Given the description of an element on the screen output the (x, y) to click on. 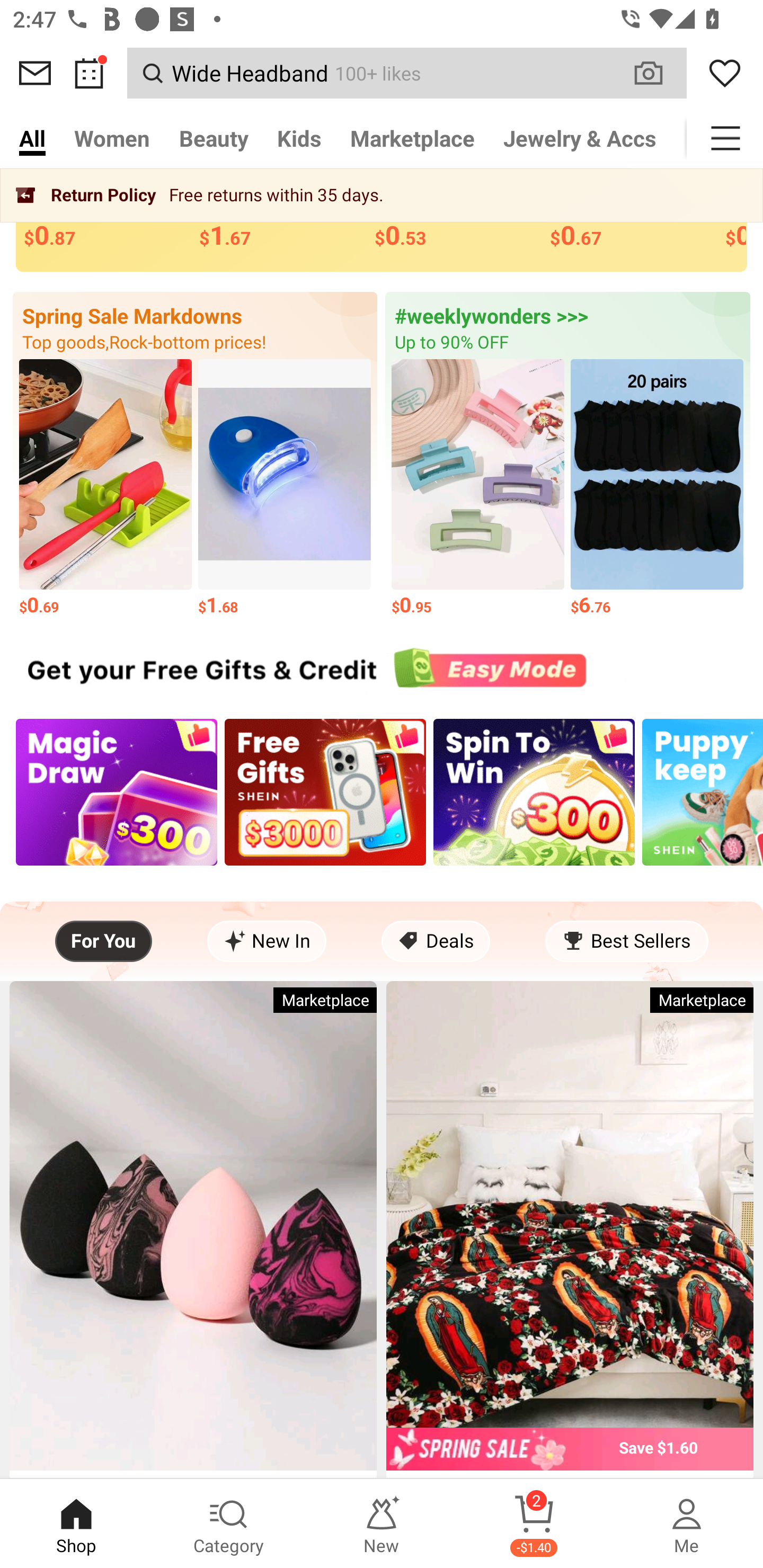
Wishlist (724, 72)
VISUAL SEARCH (657, 72)
All (31, 137)
Women (111, 137)
Beauty (213, 137)
Kids (298, 137)
Marketplace (412, 137)
Jewelry & Accs (580, 137)
Return Policy   Free returns within 35 days. (381, 194)
$0.69 Price $0.69 (105, 488)
$1.68 Price $1.68 (284, 488)
$0.95 Price $0.95 (477, 488)
$6.76 Price $6.76 (656, 488)
New In (266, 941)
Deals (435, 941)
Best Sellers (626, 941)
Category (228, 1523)
New (381, 1523)
Cart 2 -$1.40 (533, 1523)
Me (686, 1523)
